Given the description of an element on the screen output the (x, y) to click on. 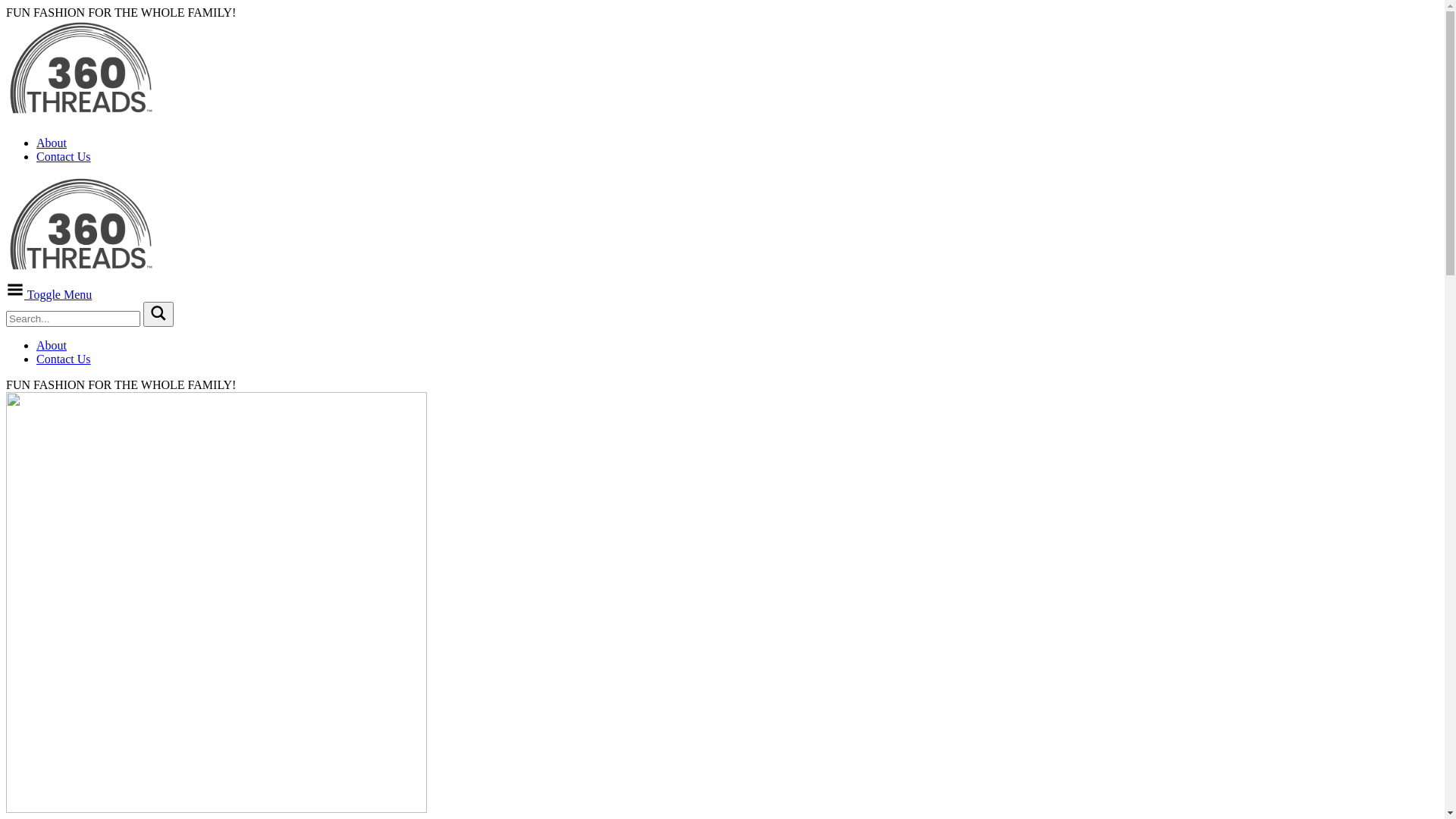
Toggle Menu Element type: text (48, 294)
Contact Us Element type: text (63, 156)
About Element type: text (51, 142)
360__7 Element type: hover (216, 602)
Contact Us Element type: text (63, 358)
About Element type: text (51, 344)
